Given the description of an element on the screen output the (x, y) to click on. 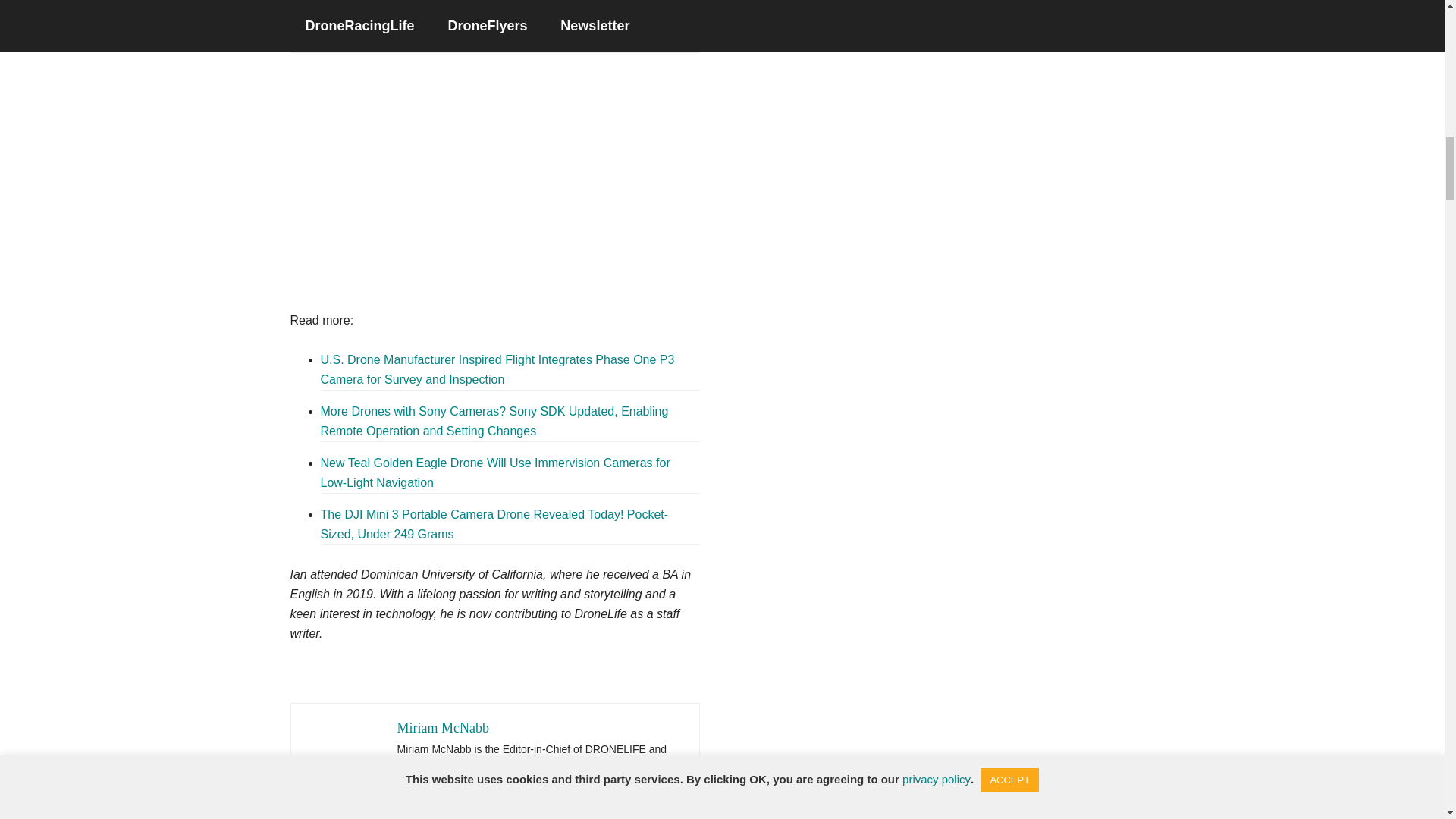
Miriam McNabb (443, 727)
Phase1Vision.com (478, 178)
